Given the description of an element on the screen output the (x, y) to click on. 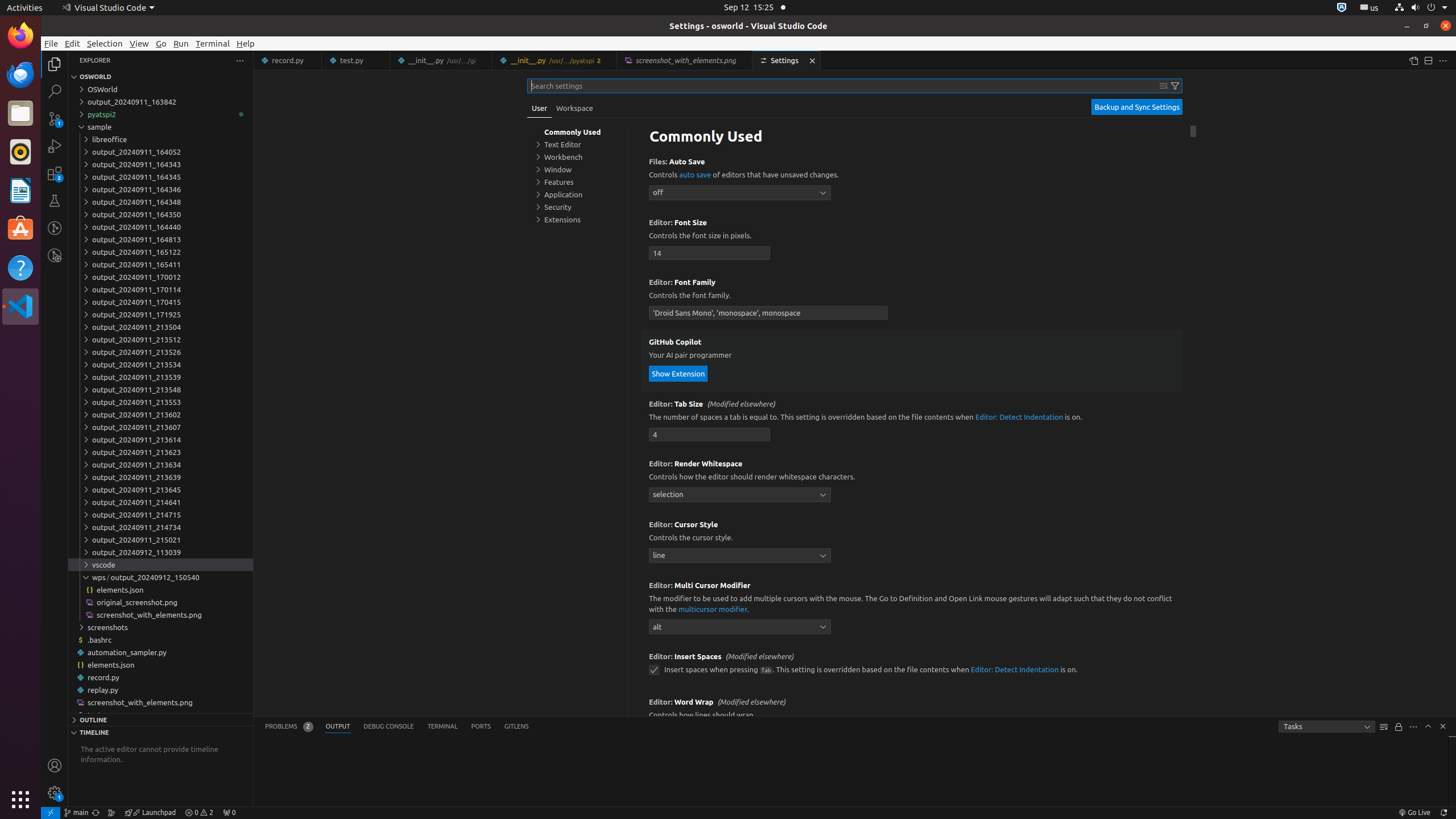
GitLens Element type: page-tab (516, 726)
sample Element type: tree-item (160, 126)
output_20240911_213534 Element type: tree-item (160, 364)
Testing Element type: page-tab (54, 200)
output_20240911_213634 Element type: tree-item (160, 464)
